Given the description of an element on the screen output the (x, y) to click on. 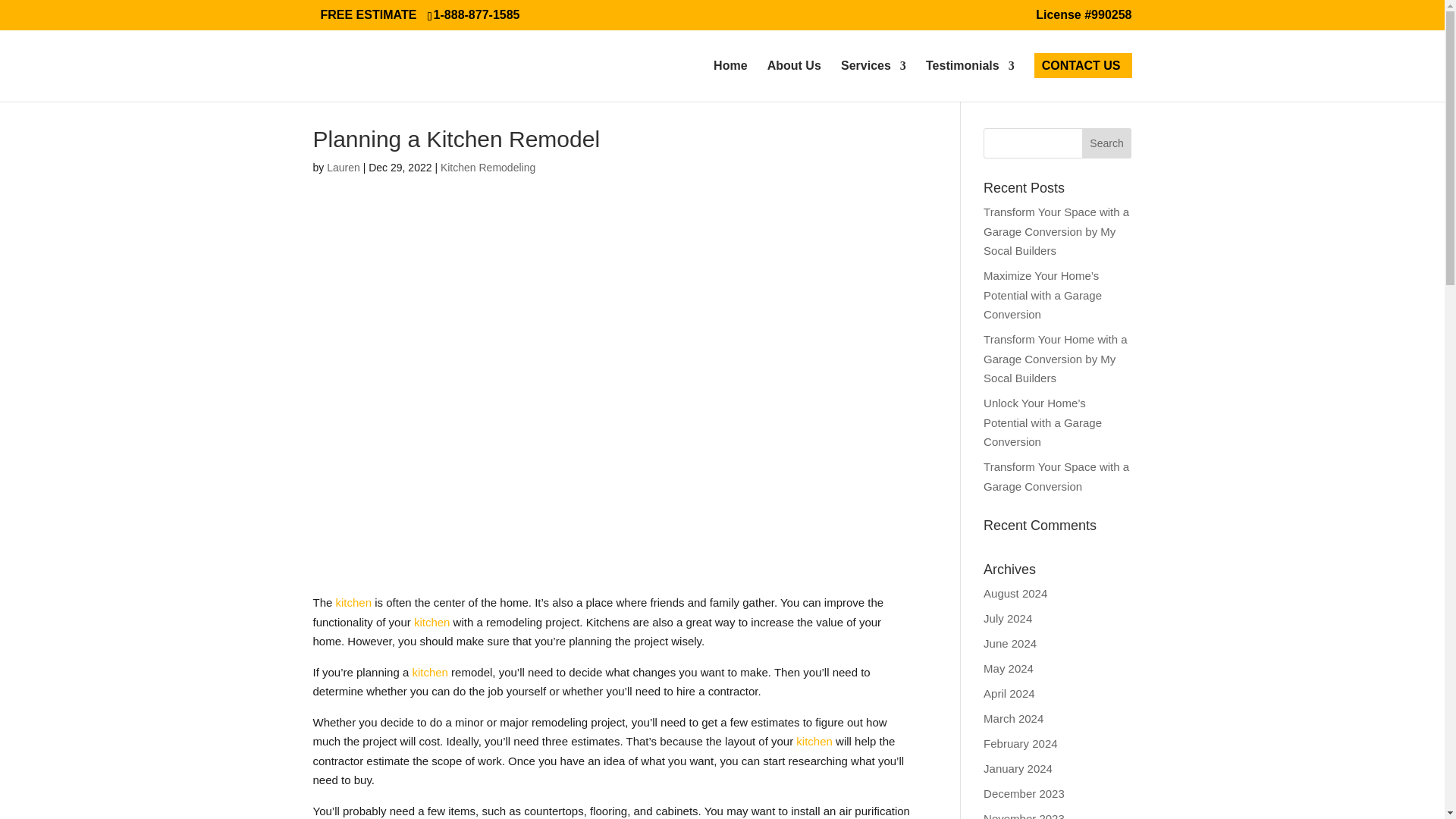
kitchen (814, 740)
kitchen (431, 621)
About Us (794, 80)
Lauren (342, 167)
CONTACT US (1081, 80)
Services (873, 80)
kitchen (354, 602)
Kitchen Remodeling (488, 167)
1-888-877-1585 (478, 14)
Search (1106, 142)
